Given the description of an element on the screen output the (x, y) to click on. 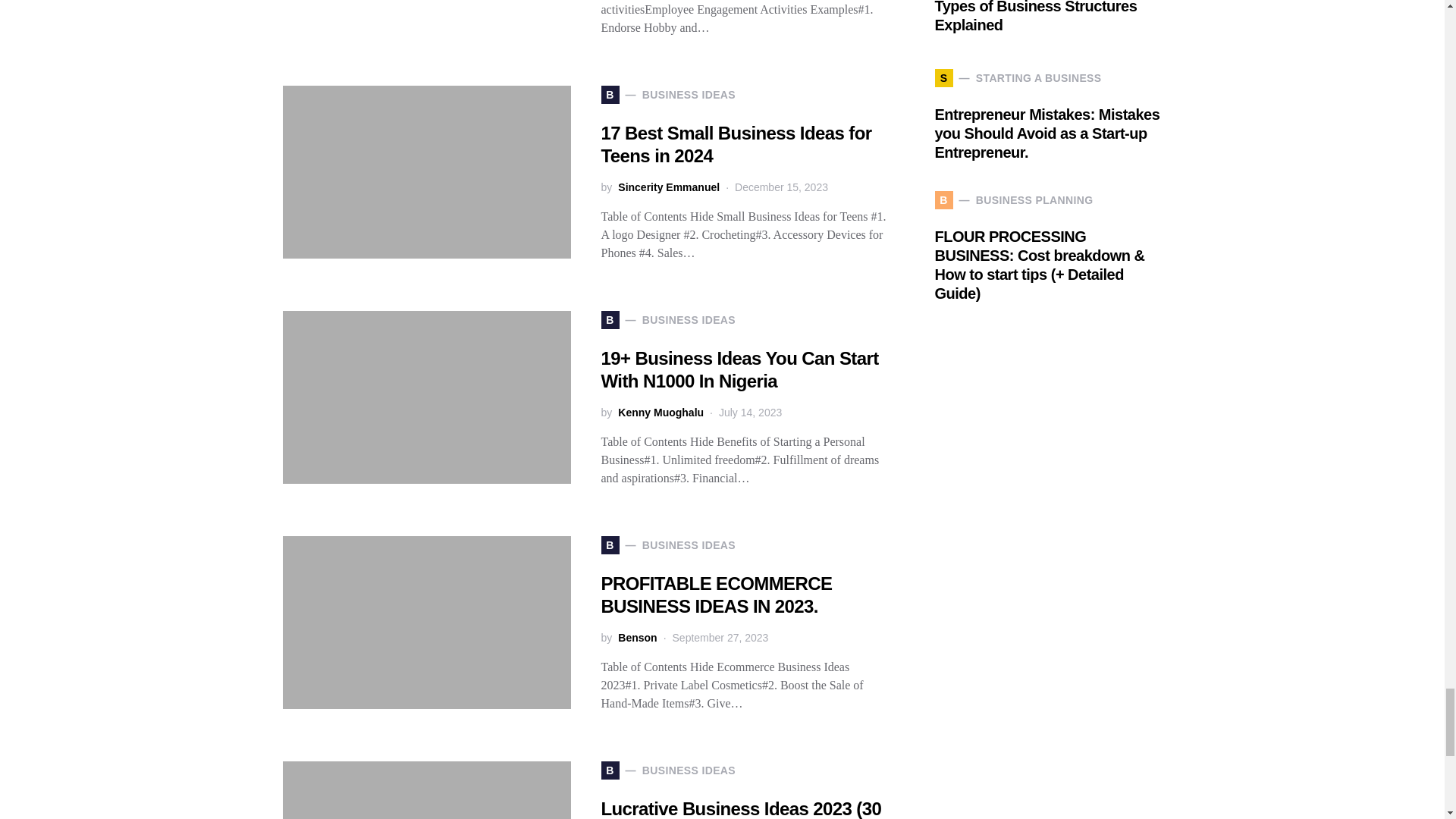
View all posts by Kenny Muoghalu (660, 412)
View all posts by Sincerity Emmanuel (668, 187)
View all posts by Benson (636, 637)
